Given the description of an element on the screen output the (x, y) to click on. 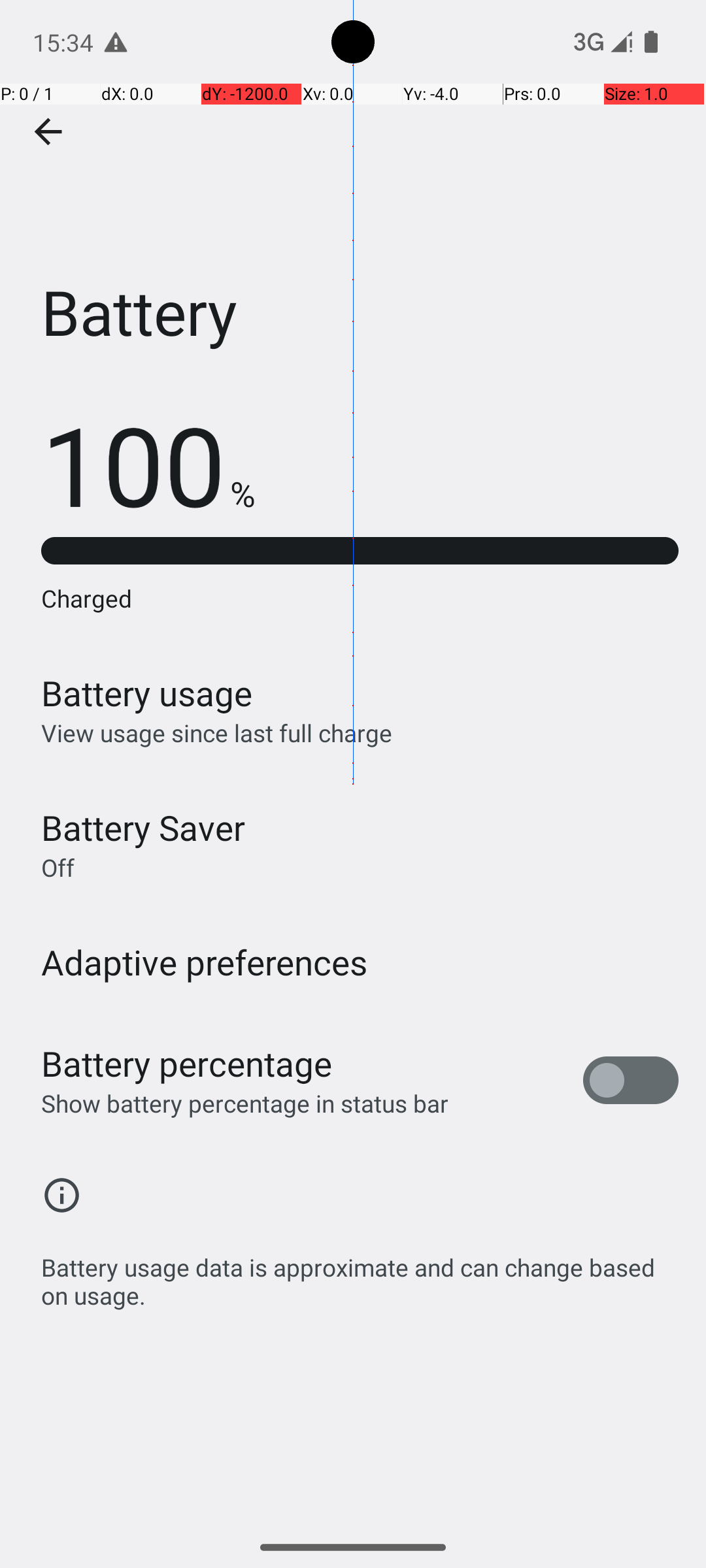
Battery Element type: android.widget.FrameLayout (353, 195)
100 % Element type: android.widget.TextView (147, 463)
Charged Element type: android.widget.TextView (359, 597)
Battery usage Element type: android.widget.TextView (146, 692)
View usage since last full charge Element type: android.widget.TextView (216, 732)
Battery Saver Element type: android.widget.TextView (143, 827)
Adaptive preferences Element type: android.widget.TextView (204, 961)
Battery percentage Element type: android.widget.TextView (186, 1063)
Show battery percentage in status bar Element type: android.widget.TextView (244, 1102)
Battery usage data is approximate and can change based on usage. Element type: android.widget.TextView (359, 1274)
